Given the description of an element on the screen output the (x, y) to click on. 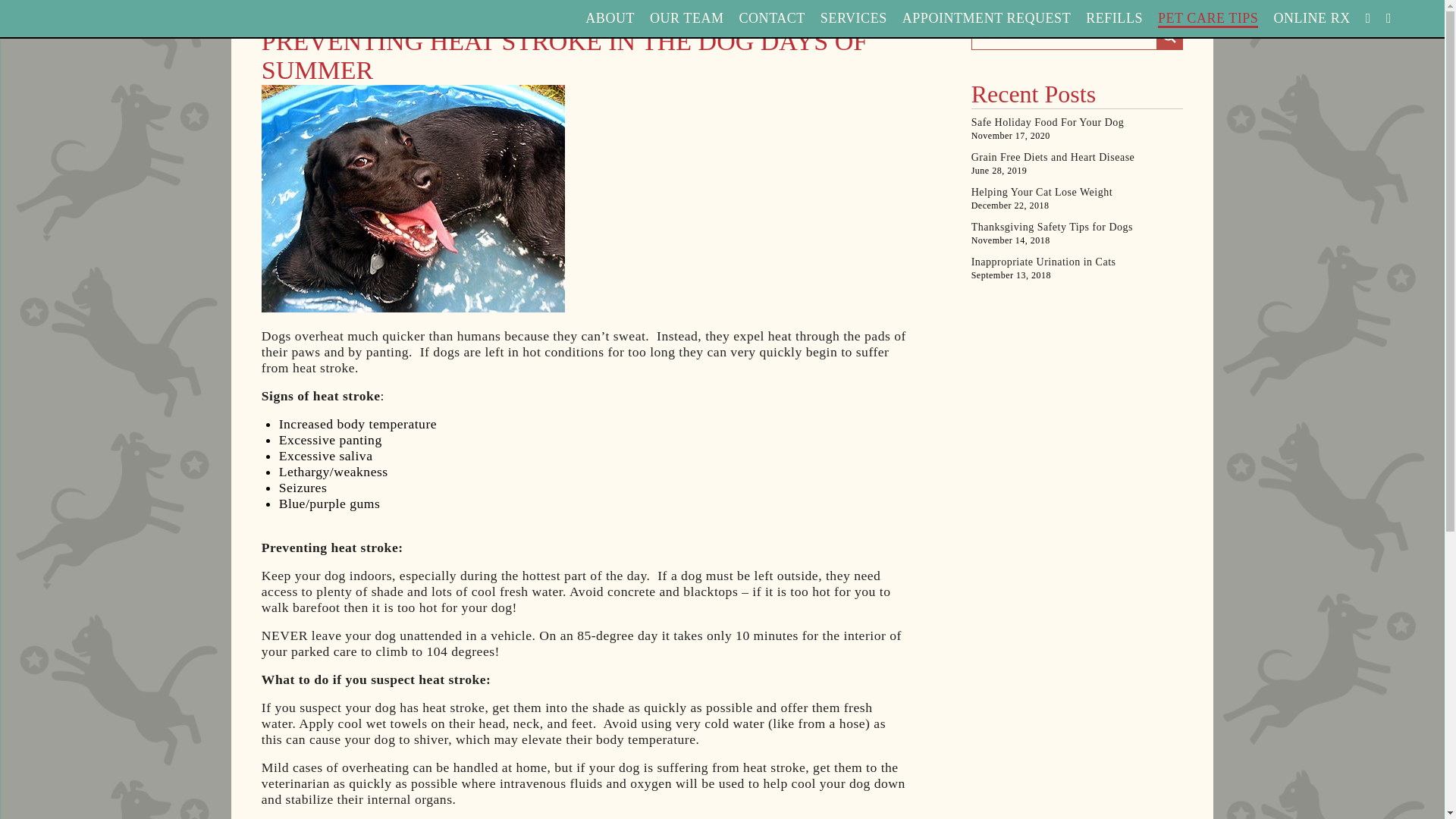
REFILLS (1114, 17)
CONTACT (772, 17)
Thanksgiving Safety Tips for Dogs (1077, 226)
Helping Your Cat Lose Weight (1077, 192)
OUR TEAM (686, 17)
ONLINE RX (1310, 17)
Grain Free Diets and Heart Disease (1077, 157)
Safe Holiday Food For Your Dog (1077, 122)
SERVICES (853, 17)
PET CARE TIPS (1207, 18)
Inappropriate Urination in Cats (1077, 262)
APPOINTMENT REQUEST (986, 17)
ABOUT (609, 17)
